Given the description of an element on the screen output the (x, y) to click on. 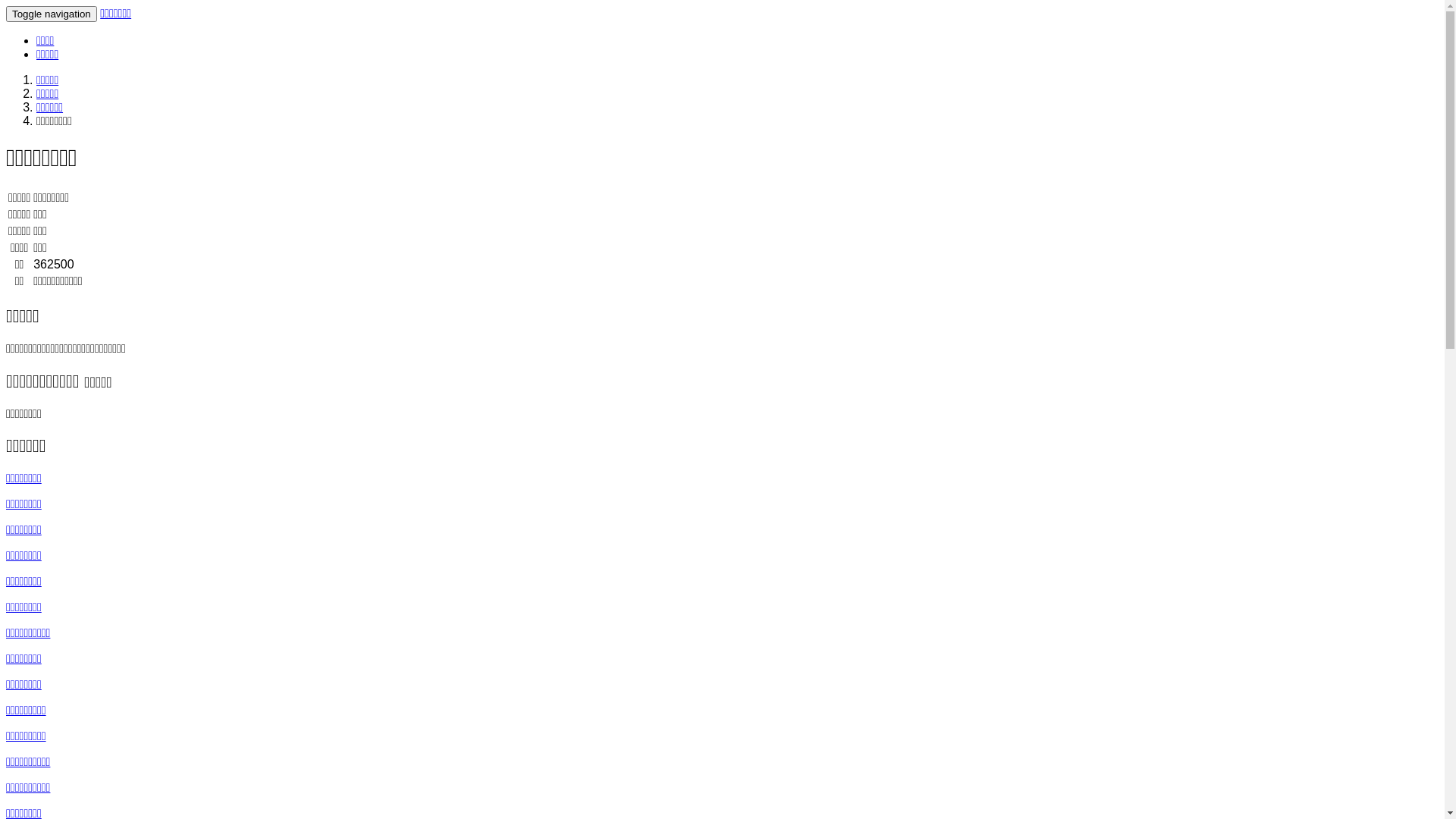
Toggle navigation Element type: text (51, 13)
